Given the description of an element on the screen output the (x, y) to click on. 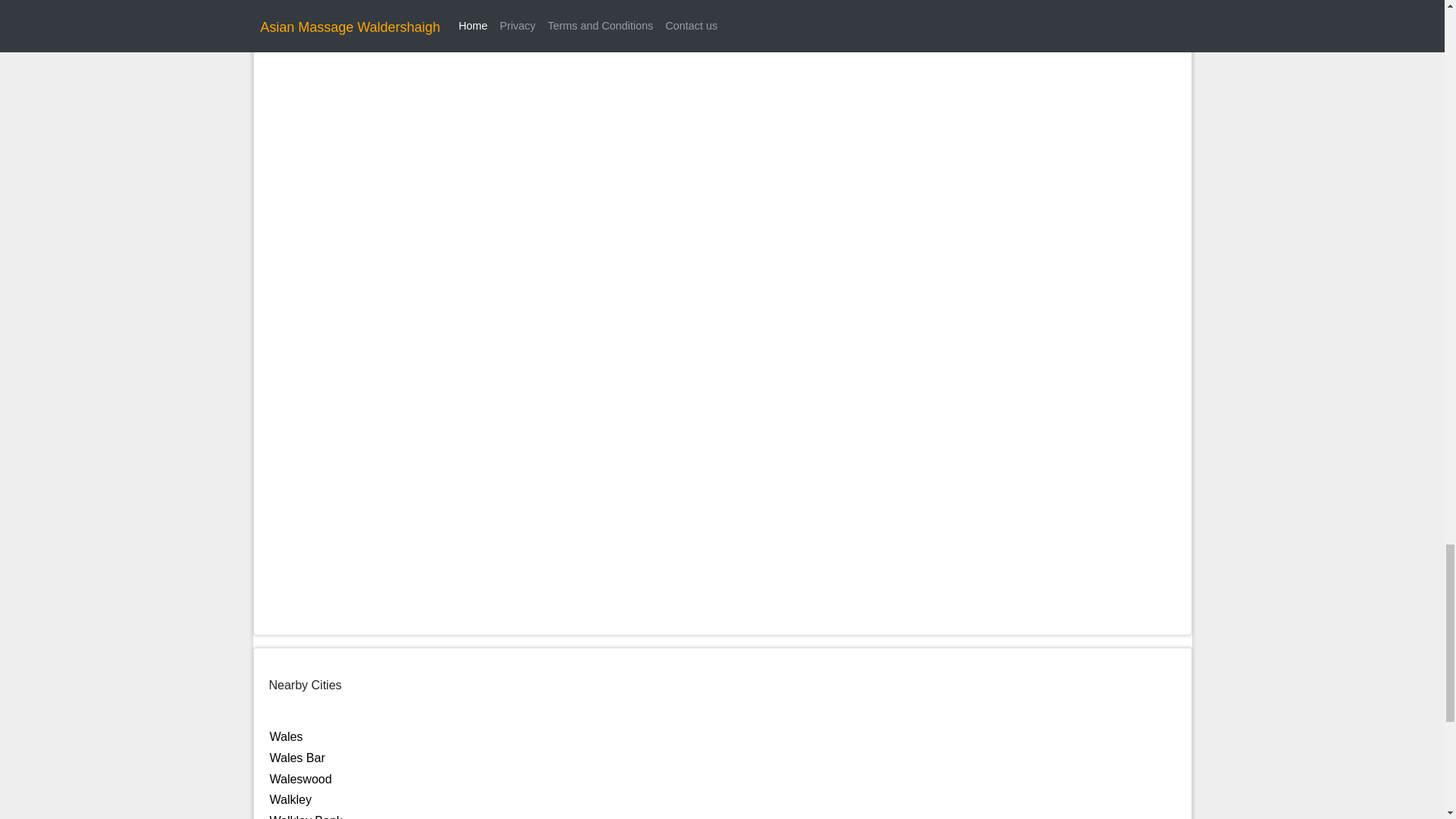
Walkley (290, 799)
Wales (285, 736)
Walkley Bank (305, 816)
Wales Bar (296, 757)
Waleswood (300, 779)
